Given the description of an element on the screen output the (x, y) to click on. 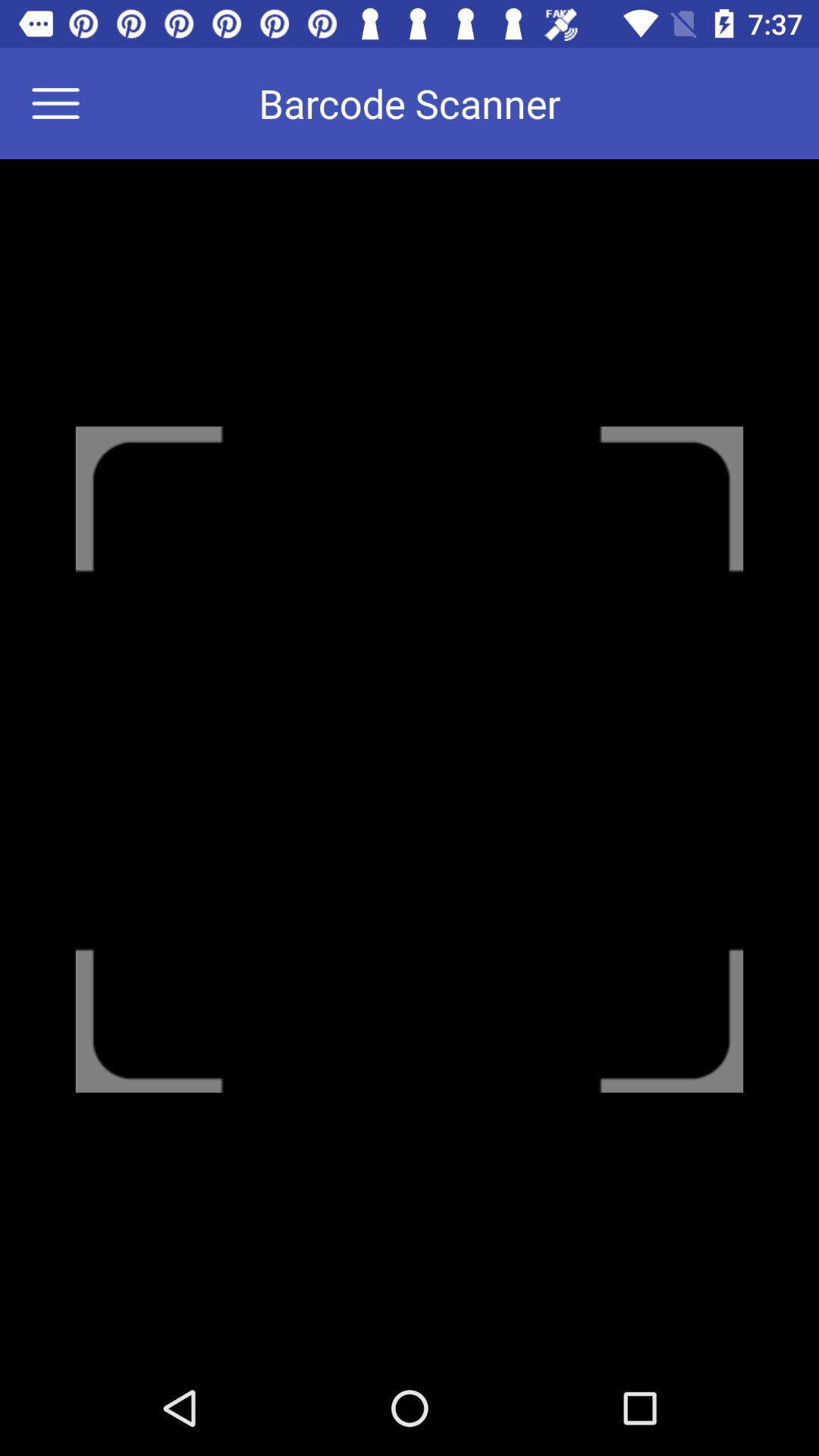
click the item next to the barcode scanner (65, 103)
